Given the description of an element on the screen output the (x, y) to click on. 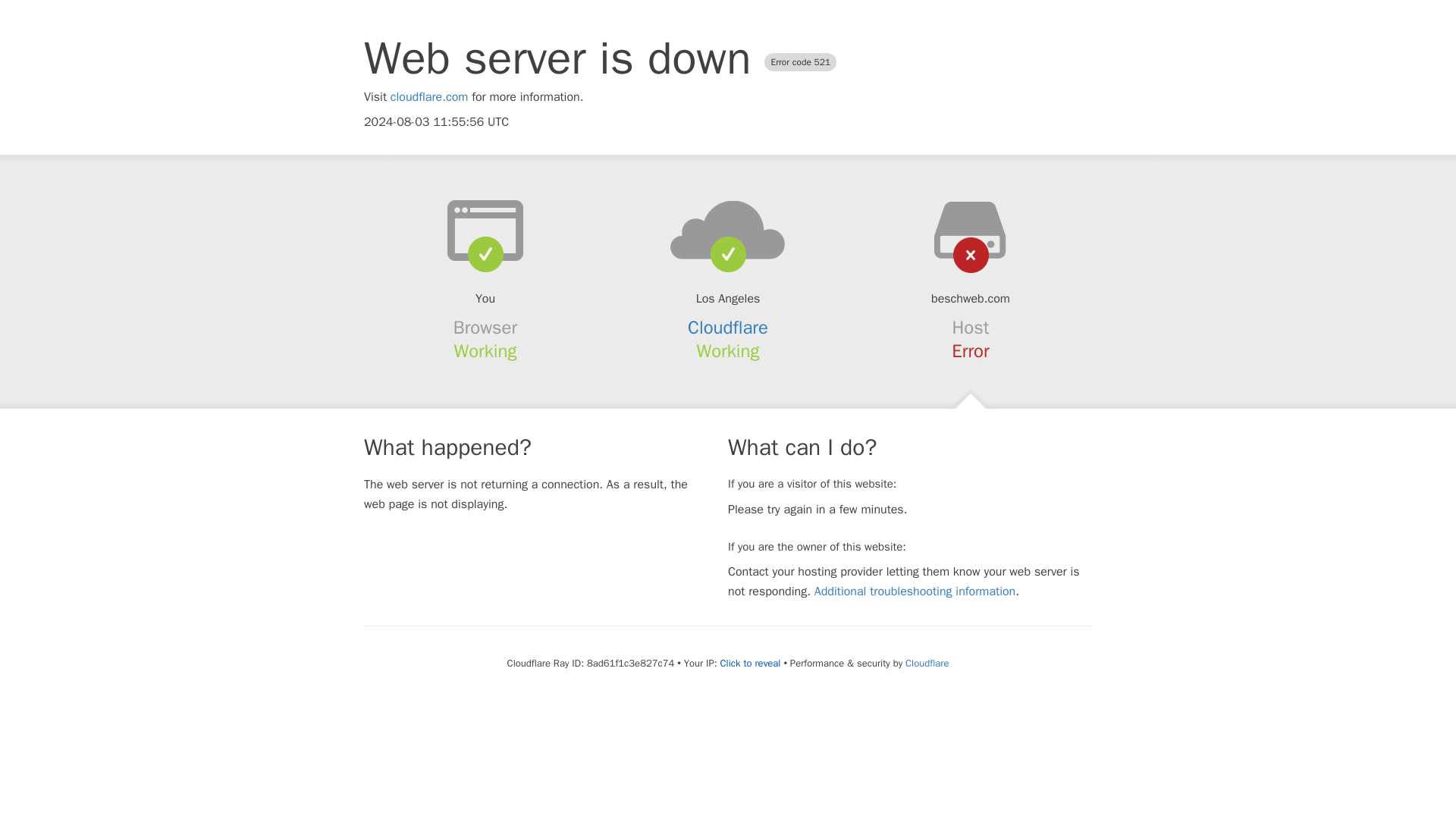
cloudflare.com (429, 96)
Cloudflare (727, 327)
Click to reveal (750, 663)
Additional troubleshooting information (913, 590)
Cloudflare (927, 662)
